Given the description of an element on the screen output the (x, y) to click on. 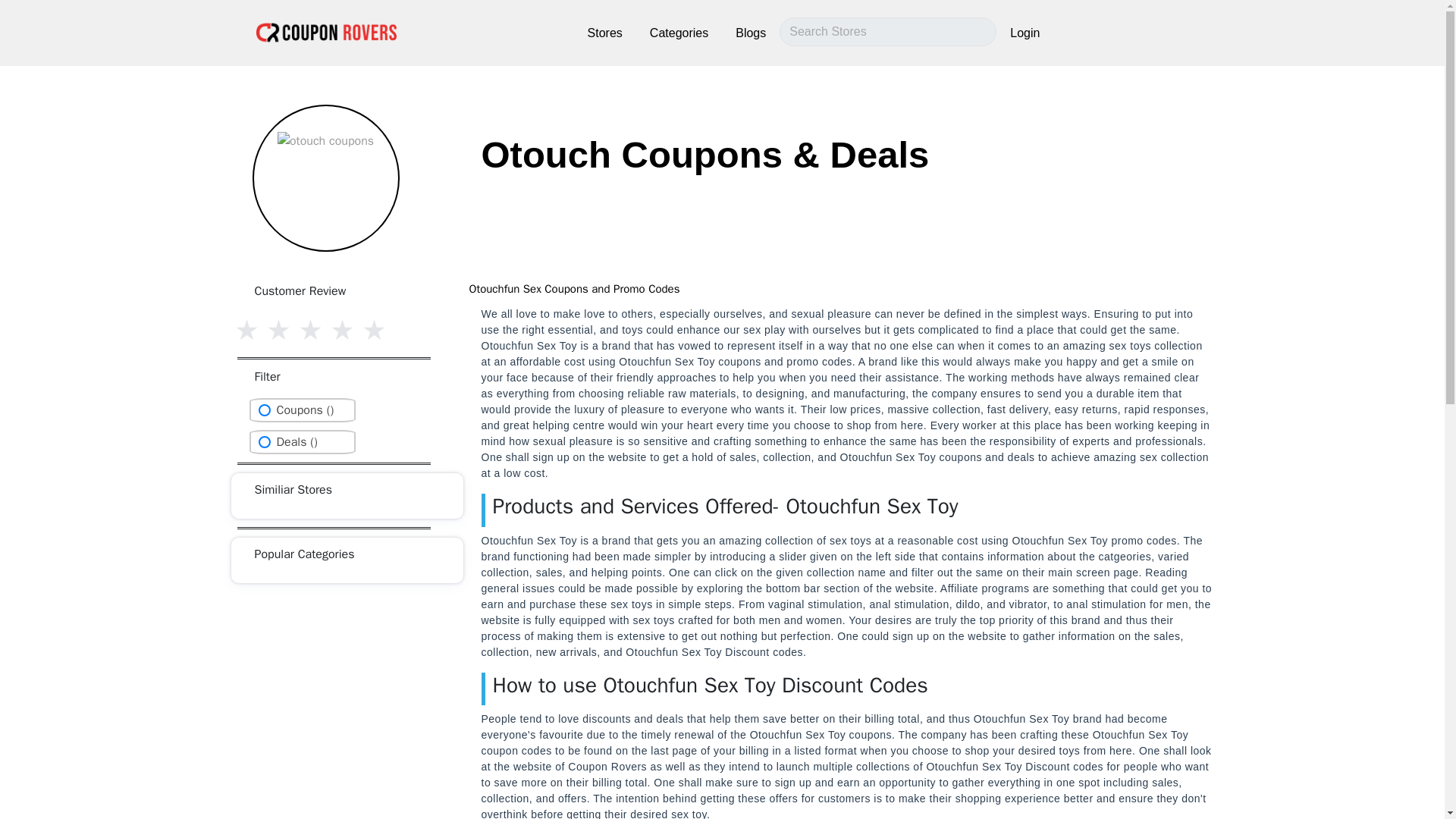
Categories (678, 33)
Stores (604, 33)
Login (1024, 33)
Blogs (750, 33)
